Given the description of an element on the screen output the (x, y) to click on. 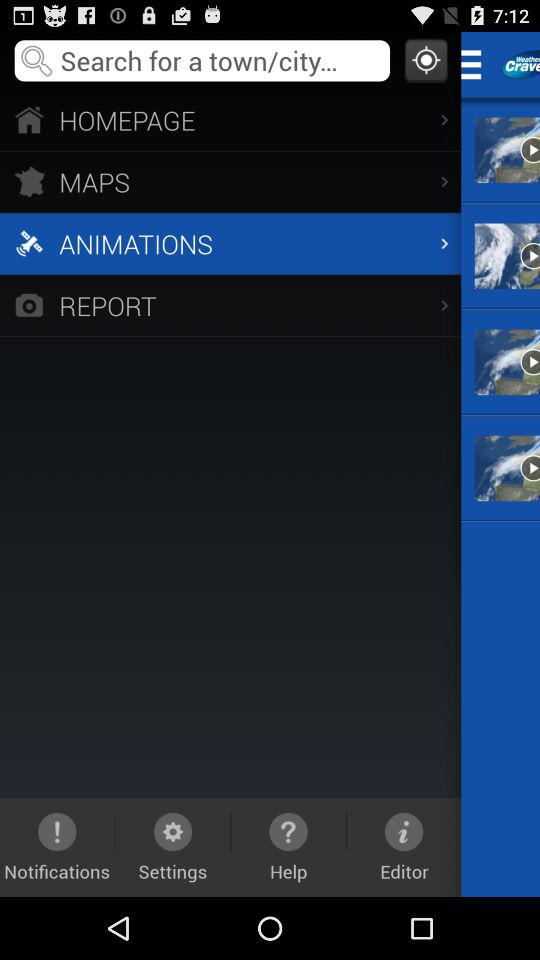
turn on item below the report (288, 847)
